Given the description of an element on the screen output the (x, y) to click on. 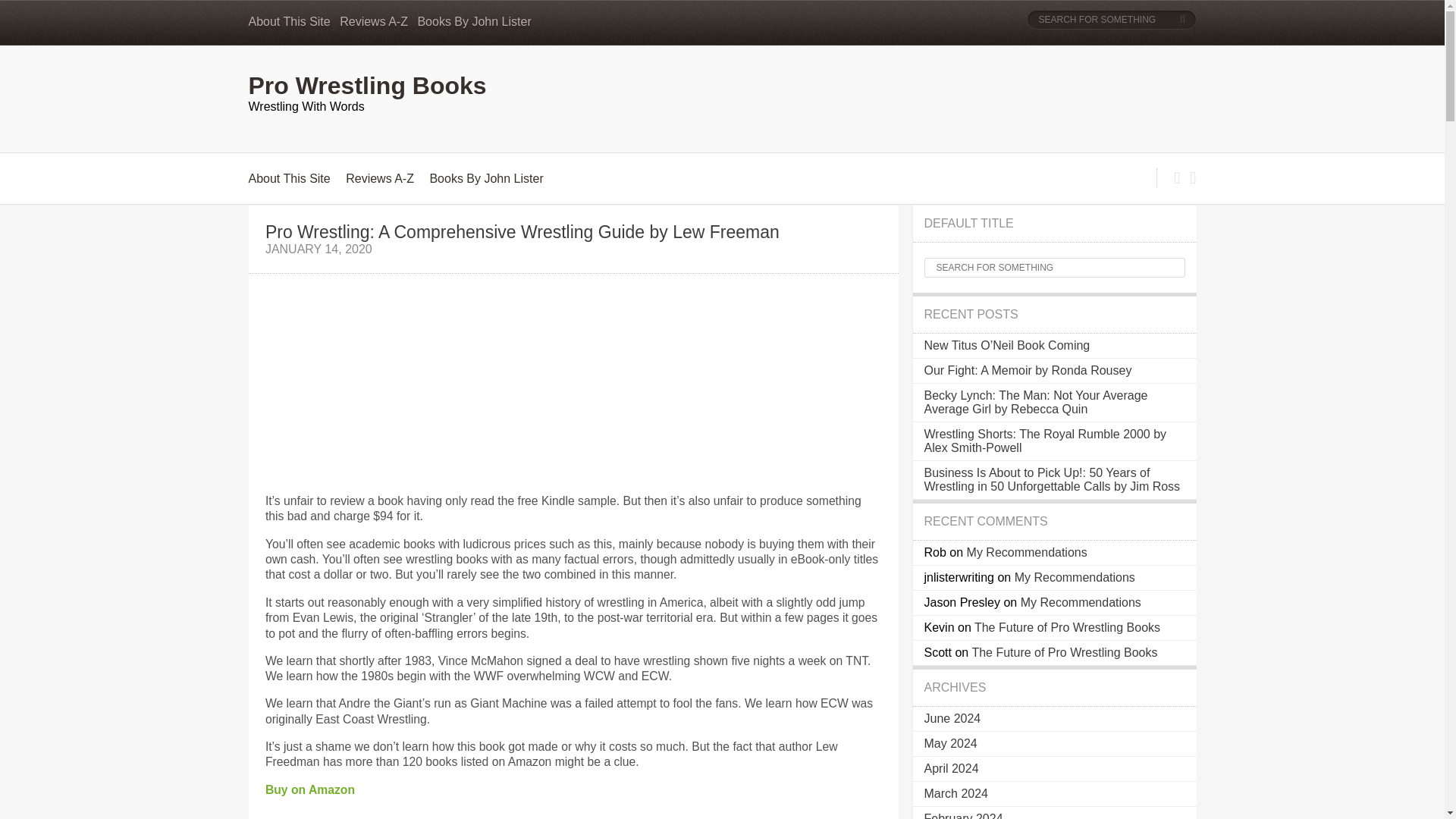
Books By John Lister (473, 21)
March 2024 (955, 793)
My Recommendations (1026, 552)
May 2024 (949, 743)
Buy on Amazon (309, 789)
About This Site (289, 178)
Books By John Lister (486, 178)
April 2024 (950, 768)
Reviews A-Z (373, 21)
The Future of Pro Wrestling Books (1064, 652)
My Recommendations (1074, 576)
About This Site (289, 21)
February 2024 (963, 815)
My Recommendations (1080, 602)
